Given the description of an element on the screen output the (x, y) to click on. 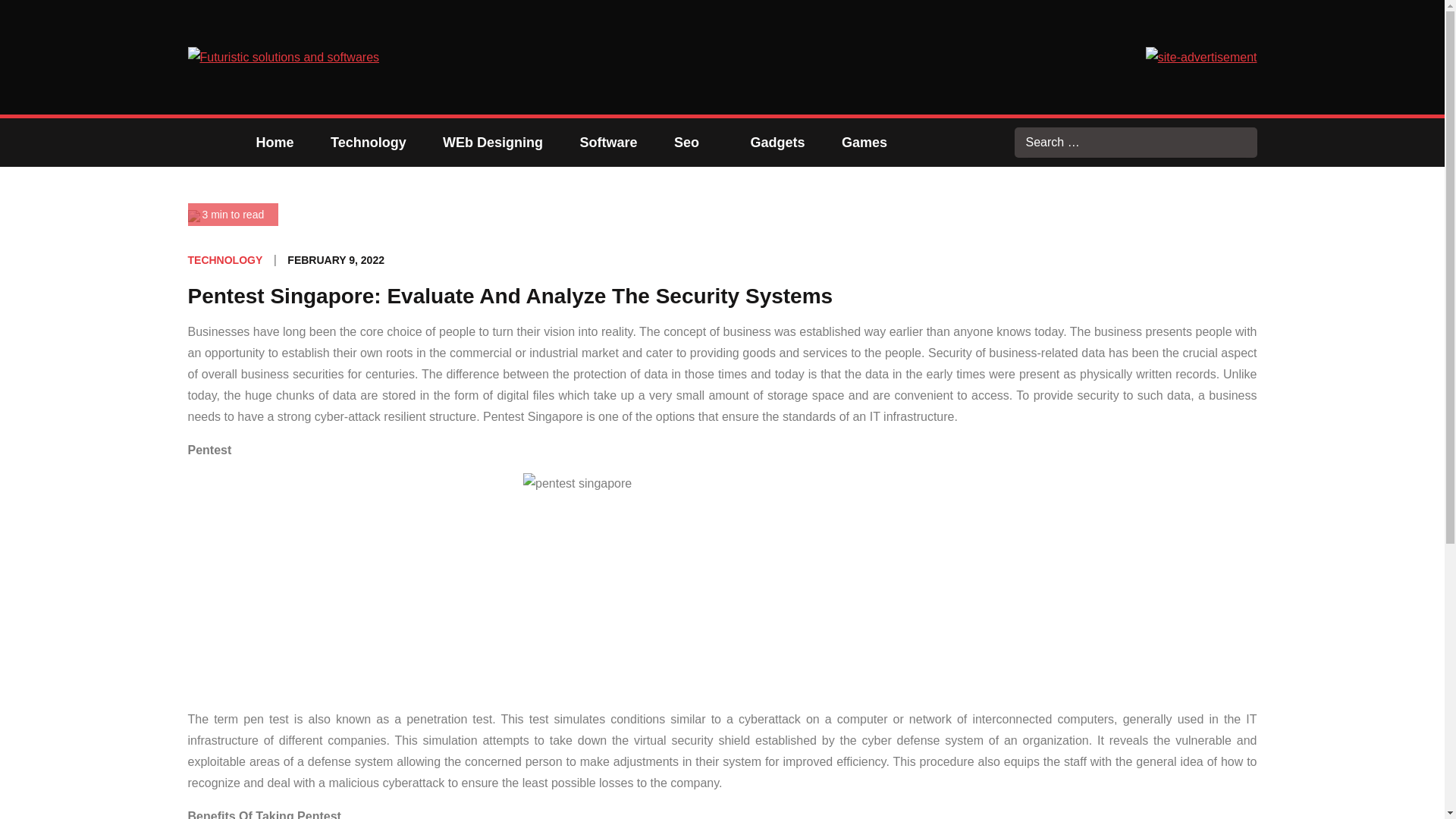
Software (608, 142)
Technology (368, 142)
TECHNOLOGY (225, 259)
Seo (694, 142)
Search (1242, 142)
FEBRUARY 9, 2022 (335, 259)
Games (864, 142)
Gadgets (777, 142)
WEb Designing (492, 142)
Home (275, 142)
